Given the description of an element on the screen output the (x, y) to click on. 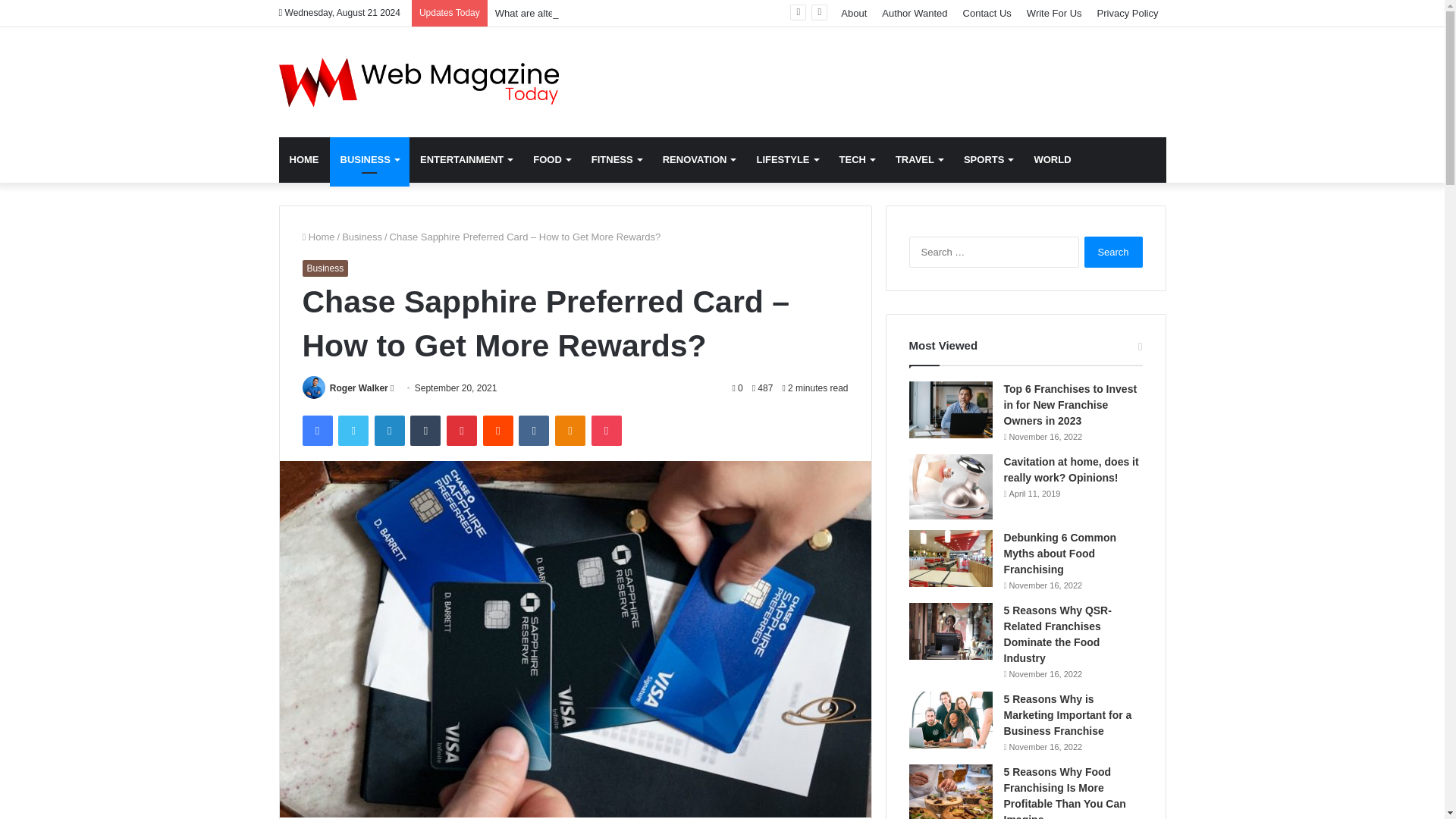
Search (1113, 251)
Write For Us (1054, 13)
LinkedIn (389, 430)
Reddit (498, 430)
VKontakte (533, 430)
Contact Us (987, 13)
HOME (304, 159)
Author Wanted (915, 13)
What are alternative therapies for mental health? (601, 12)
BUSINESS (369, 159)
